Given the description of an element on the screen output the (x, y) to click on. 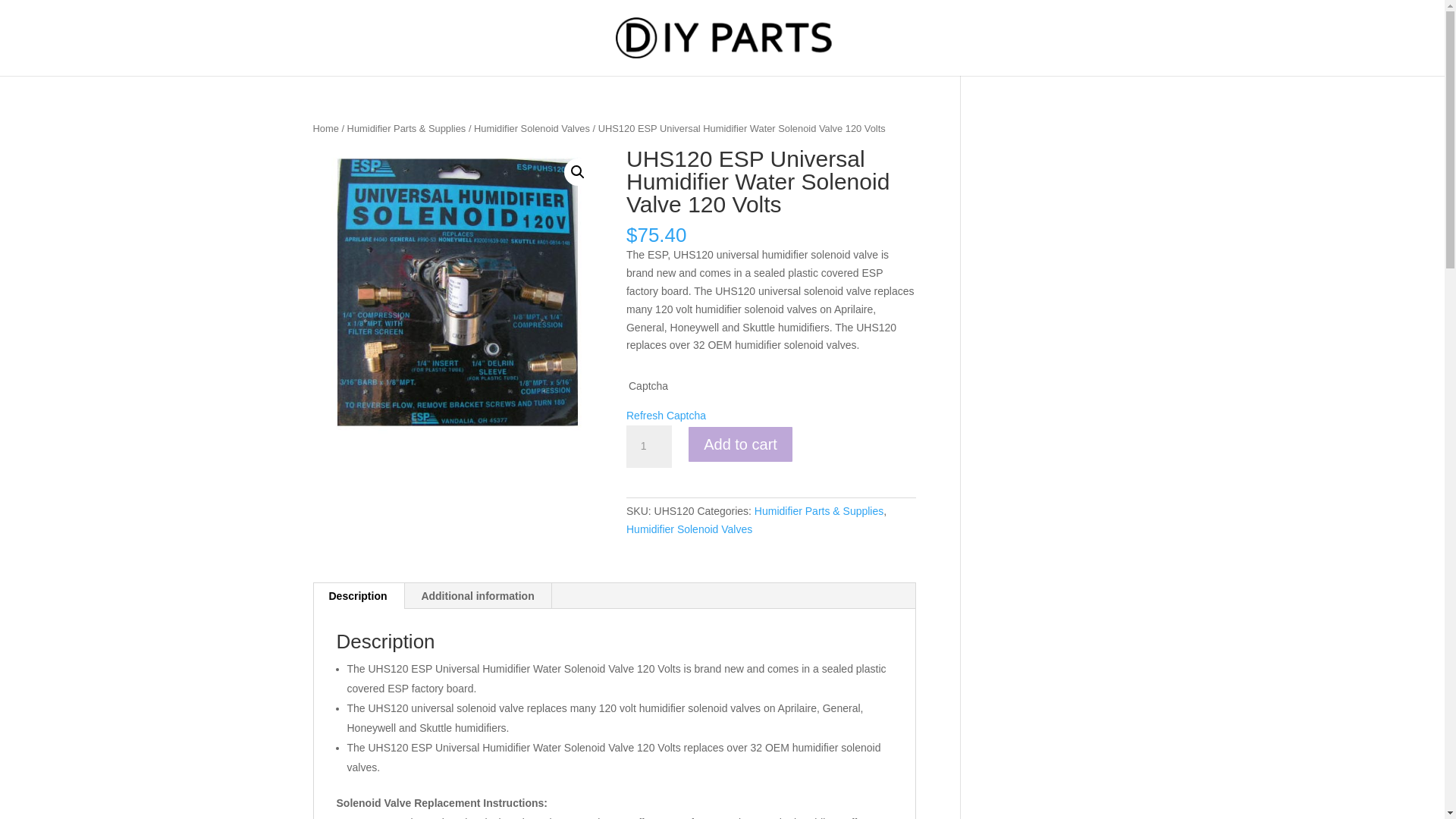
Home (325, 128)
Humidifier Solenoid Valves (531, 128)
Description (358, 596)
Refresh Captcha (666, 415)
1 (648, 446)
ESP120universalsolenoid (457, 292)
Add to cart (740, 444)
Additional information (477, 596)
Humidifier Solenoid Valves (689, 529)
